Given the description of an element on the screen output the (x, y) to click on. 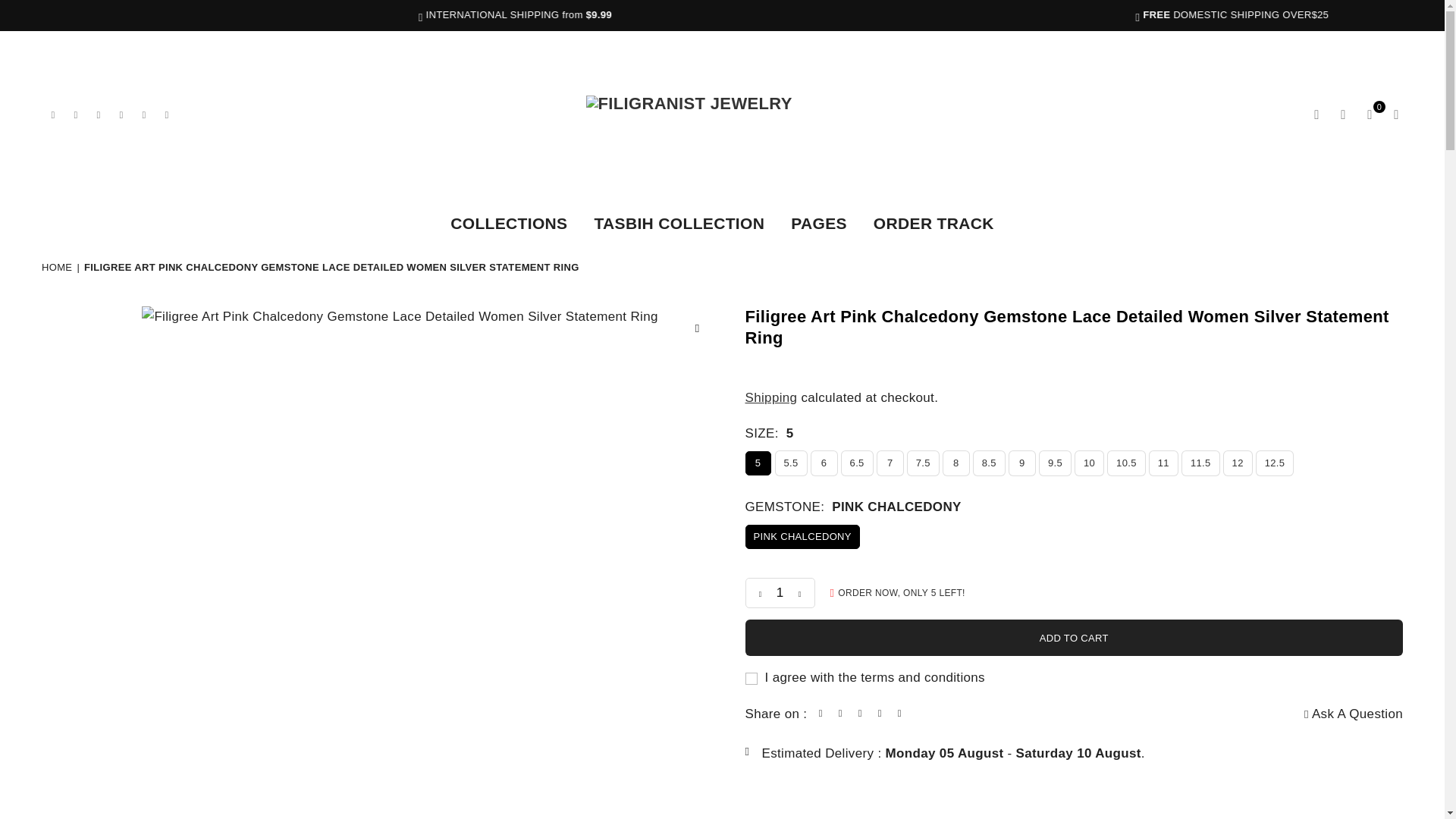
Pinterest (98, 114)
Share by Email (898, 713)
Filigranist Jewelry on Twitter (75, 114)
FILIGRANIST JEWELRY (722, 114)
COLLECTIONS (508, 224)
Back to the home page (58, 266)
Tweet on Twitter (839, 713)
Filigranist Jewelry on Instagram (121, 114)
SEARCH (1316, 114)
Filigranist Jewelry on YouTube (143, 114)
Quantity (778, 593)
YouTube (143, 114)
ACCOUNT (1343, 114)
Twitter (75, 114)
Instagram (121, 114)
